Given the description of an element on the screen output the (x, y) to click on. 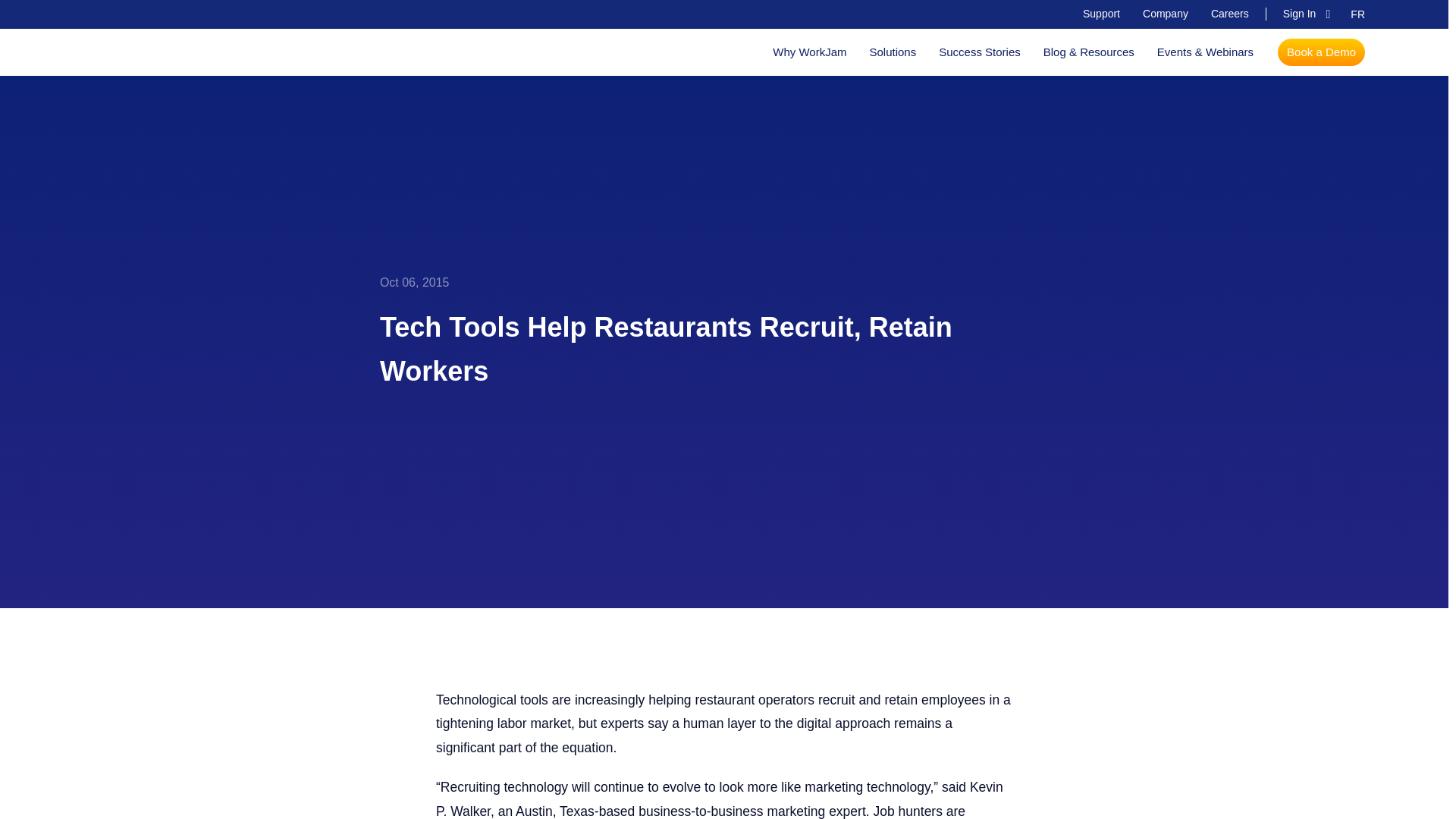
Why WorkJam (809, 51)
Sign In (1299, 13)
Company (1165, 13)
FR (1358, 14)
Solutions (892, 51)
Careers (1230, 13)
Support (1101, 13)
